Given the description of an element on the screen output the (x, y) to click on. 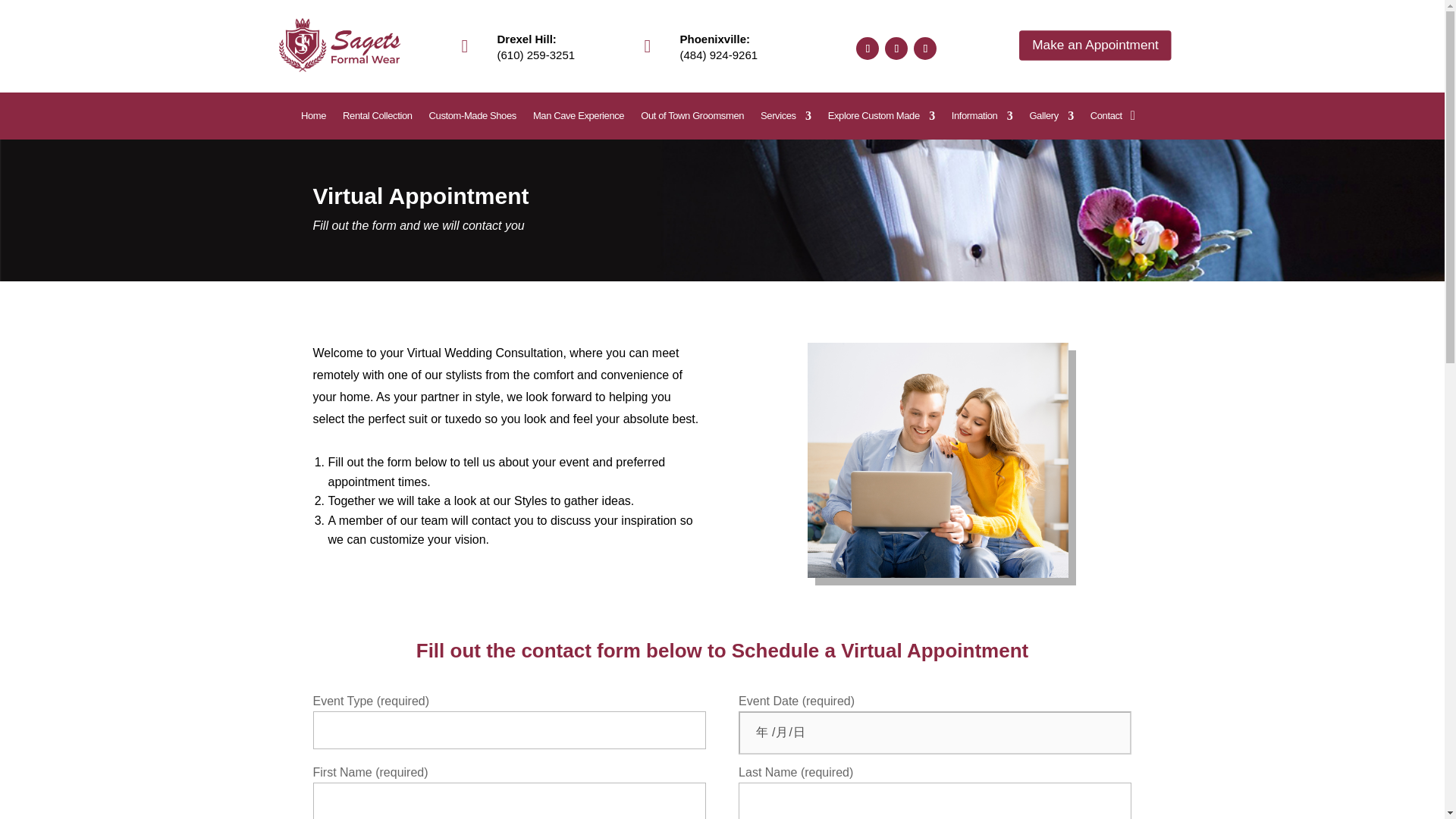
Make an Appointment (1080, 42)
Follow on Instagram (925, 47)
Gallery (1051, 118)
Custom-Made Shoes (472, 118)
couple is using a laptop (938, 460)
Follow on Facebook (867, 47)
Out of Town Groomsmen (692, 118)
Services (785, 118)
Home (313, 118)
fullMaroon (340, 45)
Explore Custom Made (881, 118)
Contact (1106, 118)
Man Cave Experience (578, 118)
Information (982, 118)
Rental Collection (377, 118)
